Given the description of an element on the screen output the (x, y) to click on. 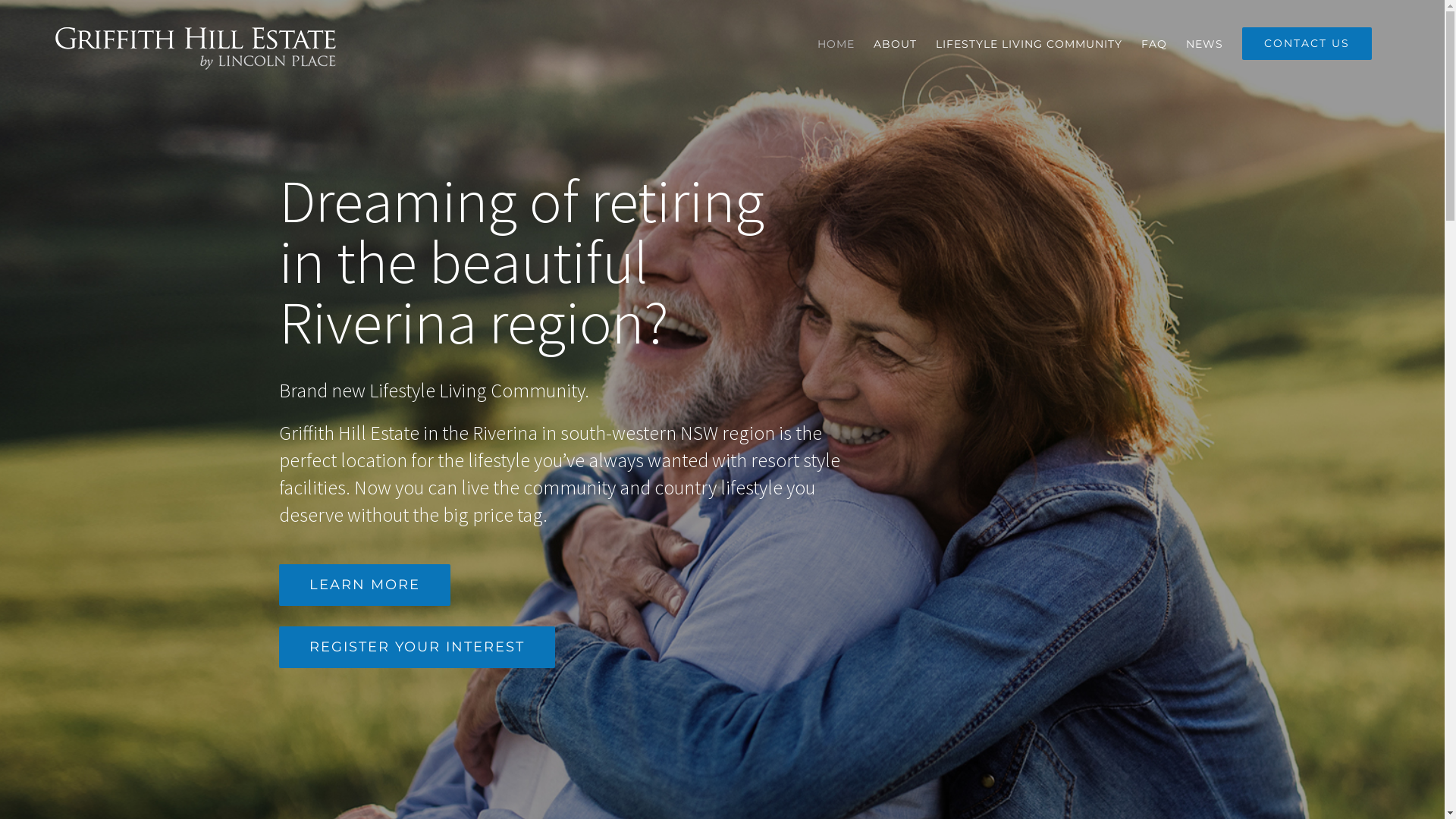
ABOUT Element type: text (894, 43)
LEARN MORE Element type: text (364, 584)
CONTACT US Element type: text (1306, 43)
HOME Element type: text (835, 43)
NEWS Element type: text (1204, 43)
REGISTER YOUR INTEREST Element type: text (417, 647)
LIFESTYLE LIVING COMMUNITY Element type: text (1028, 43)
FAQ Element type: text (1154, 43)
